Given the description of an element on the screen output the (x, y) to click on. 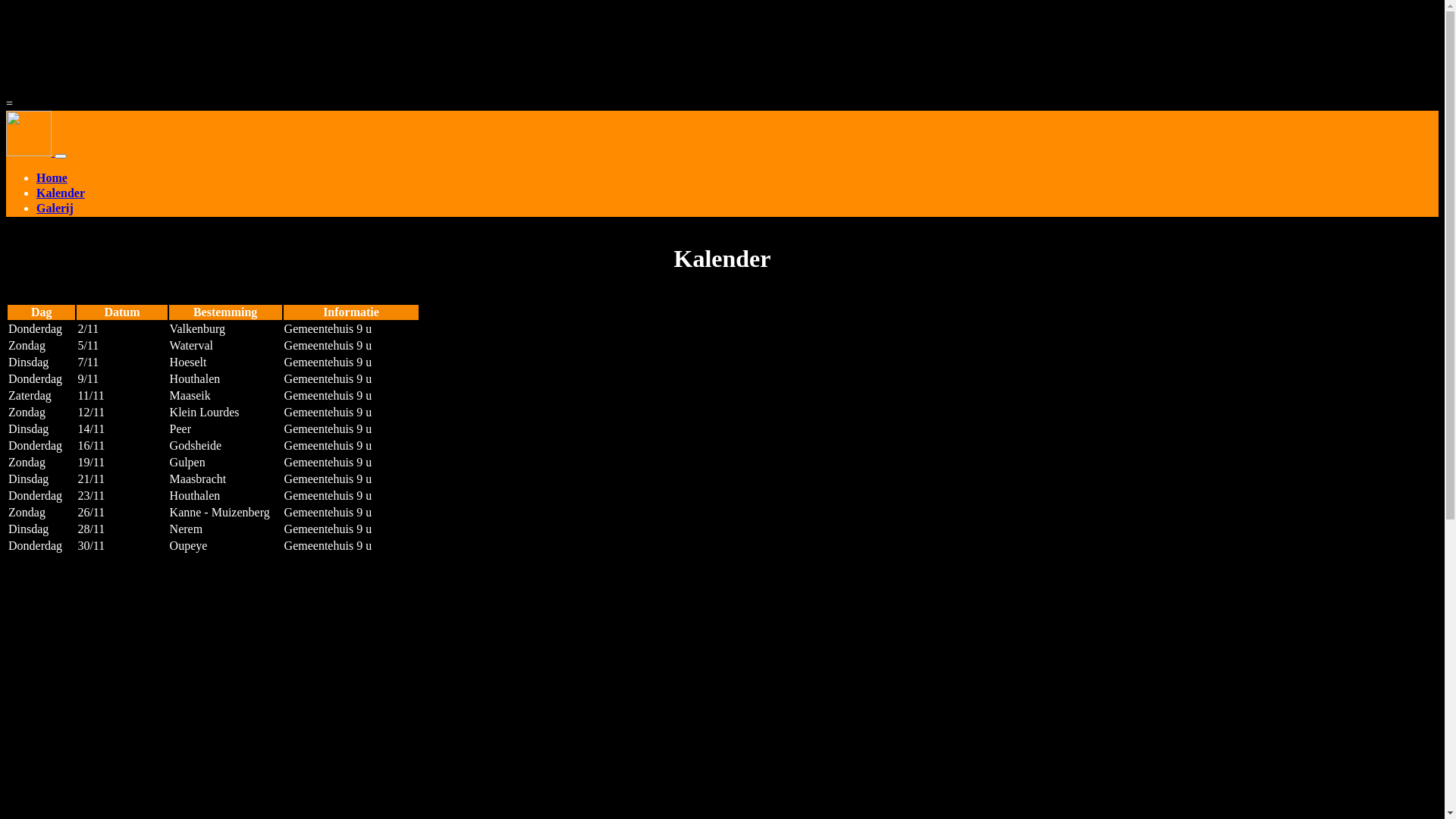
Galerij Element type: text (737, 208)
Kalender Element type: text (737, 193)
Home Element type: text (737, 178)
